Given the description of an element on the screen output the (x, y) to click on. 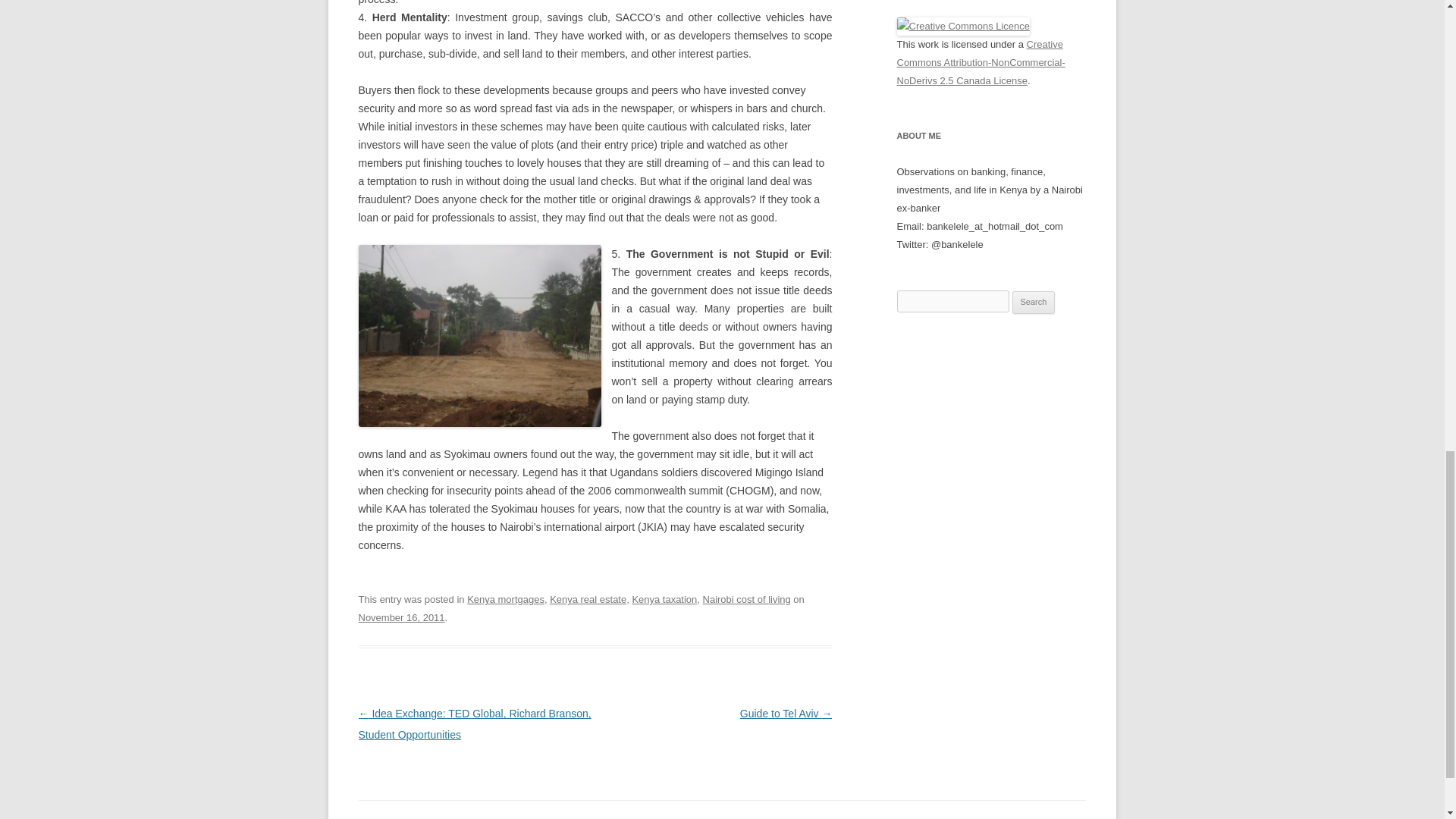
Search (1033, 302)
Kenya real estate (588, 599)
November 16, 2011 (401, 617)
Kenya mortgages (505, 599)
Kenya taxation (664, 599)
Nairobi cost of living (746, 599)
8:59 pm (401, 617)
